Given the description of an element on the screen output the (x, y) to click on. 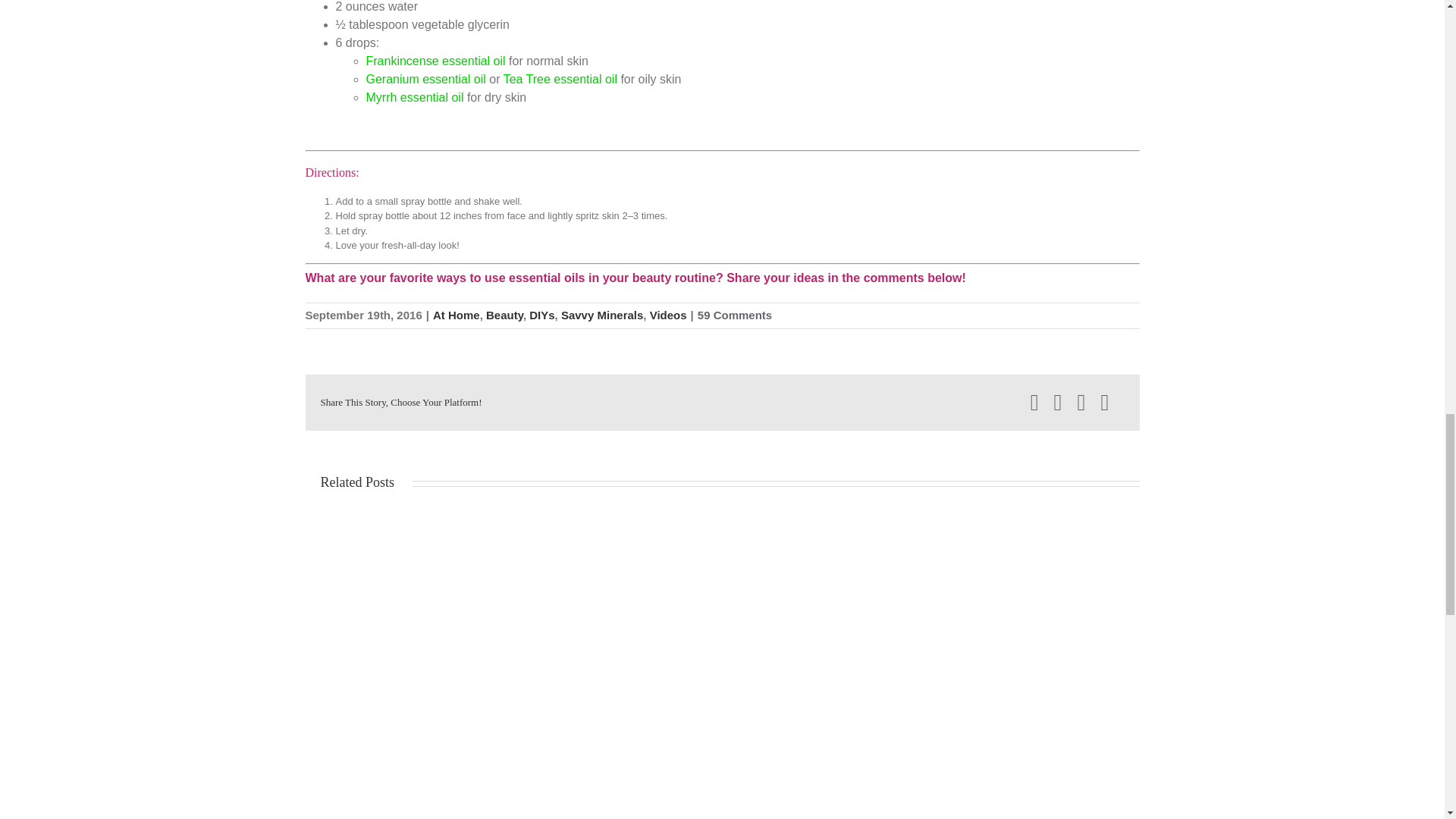
Frankincense essential oil (435, 60)
Geranium essential oil (424, 78)
At Home (456, 314)
Tea Tree essential oil (560, 78)
Myrrh essential oil (414, 97)
